Given the description of an element on the screen output the (x, y) to click on. 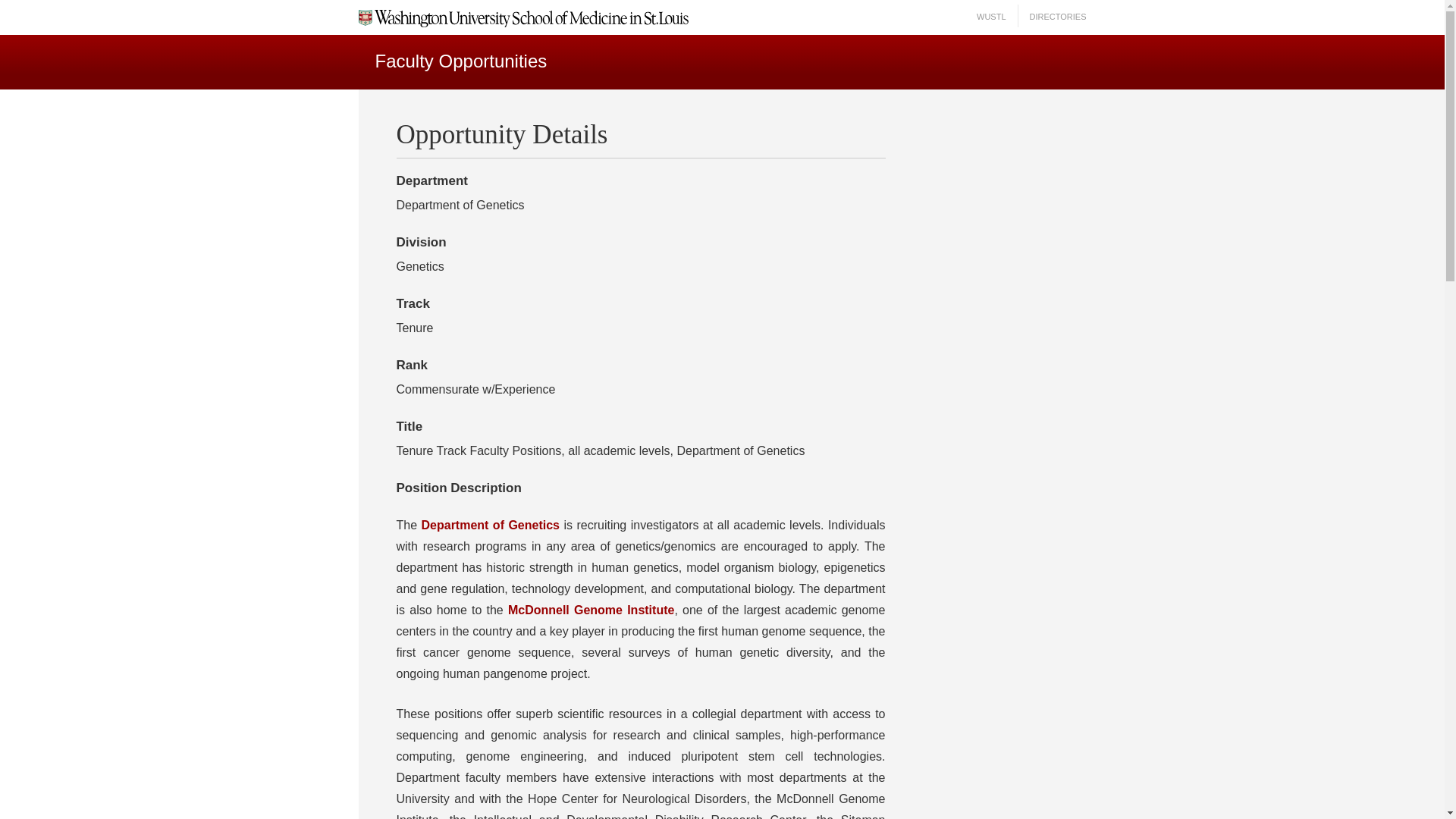
Faculty Opportunities (460, 60)
McDonnell Genome Institute (591, 609)
Department of Genetics (490, 524)
WUSTL (991, 16)
DIRECTORIES (1057, 16)
